Given the description of an element on the screen output the (x, y) to click on. 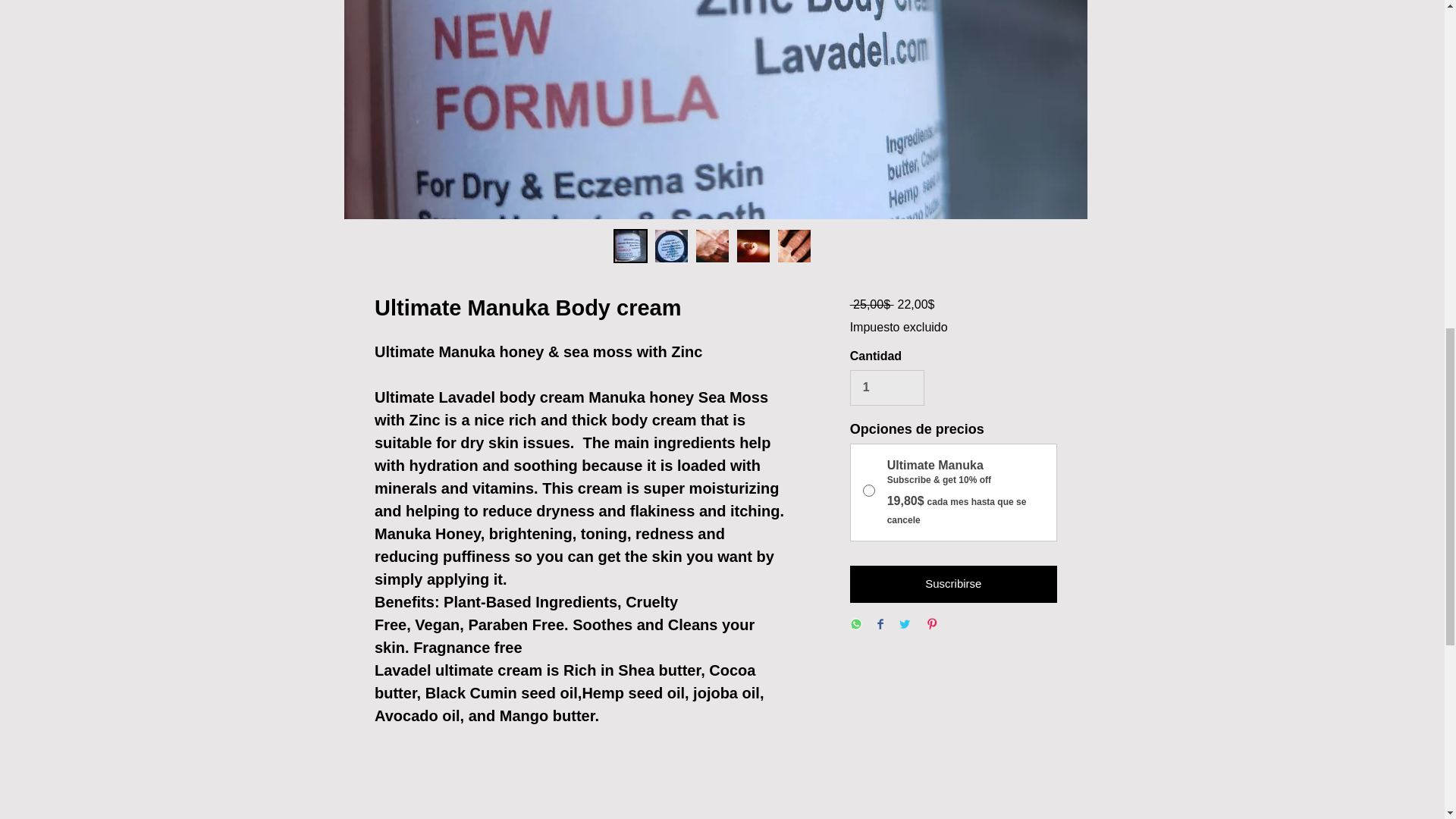
1 (887, 387)
Suscribirse (953, 583)
